Given the description of an element on the screen output the (x, y) to click on. 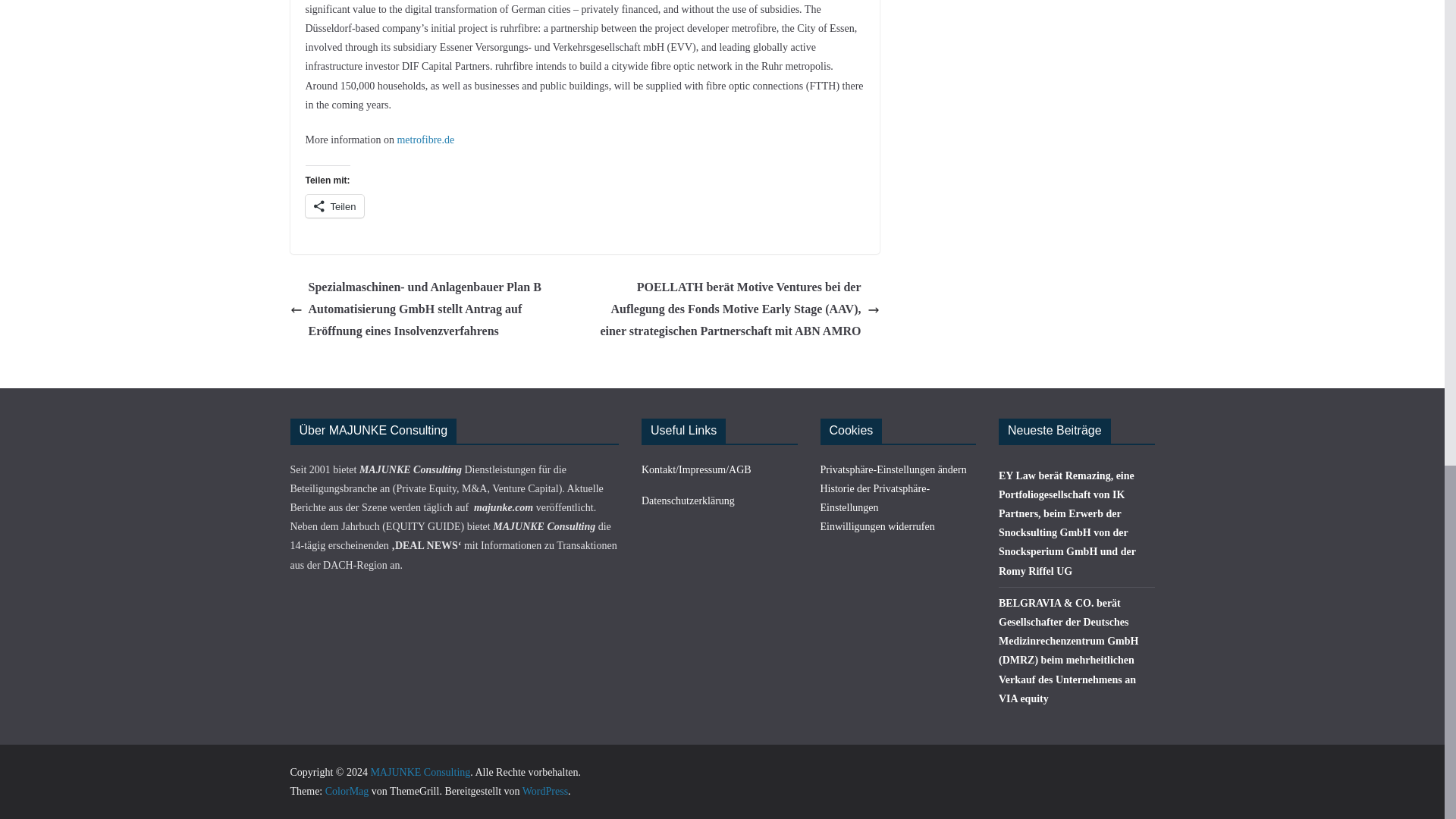
MAJUNKE Consulting (419, 772)
MAJUNKE Consulting (419, 772)
Einwilligungen widerrufen (877, 526)
ColorMag (346, 790)
metrofibre.de (425, 139)
Teilen (334, 205)
WordPress (544, 790)
ColorMag (346, 790)
WordPress (544, 790)
